Given the description of an element on the screen output the (x, y) to click on. 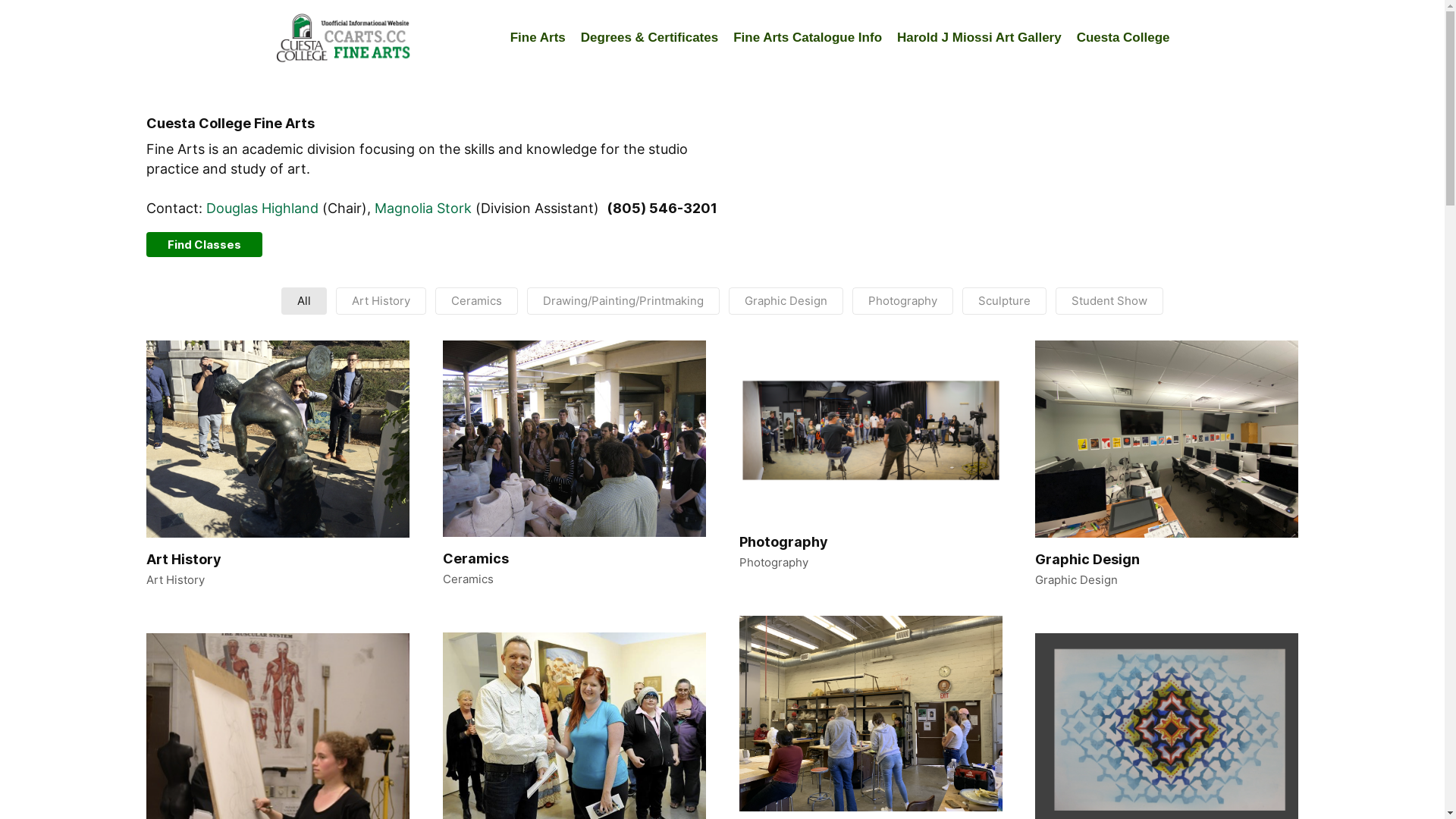
Cuesta College Element type: text (1123, 37)
Harold J Miossi Art Gallery Element type: text (979, 37)
Douglas Highland Element type: text (262, 208)
Fine Arts Catalogue Info Element type: text (807, 37)
Magnolia Stork Element type: text (422, 208)
Fine Arts Element type: text (537, 37)
Degrees & Certificates Element type: text (649, 37)
